Given the description of an element on the screen output the (x, y) to click on. 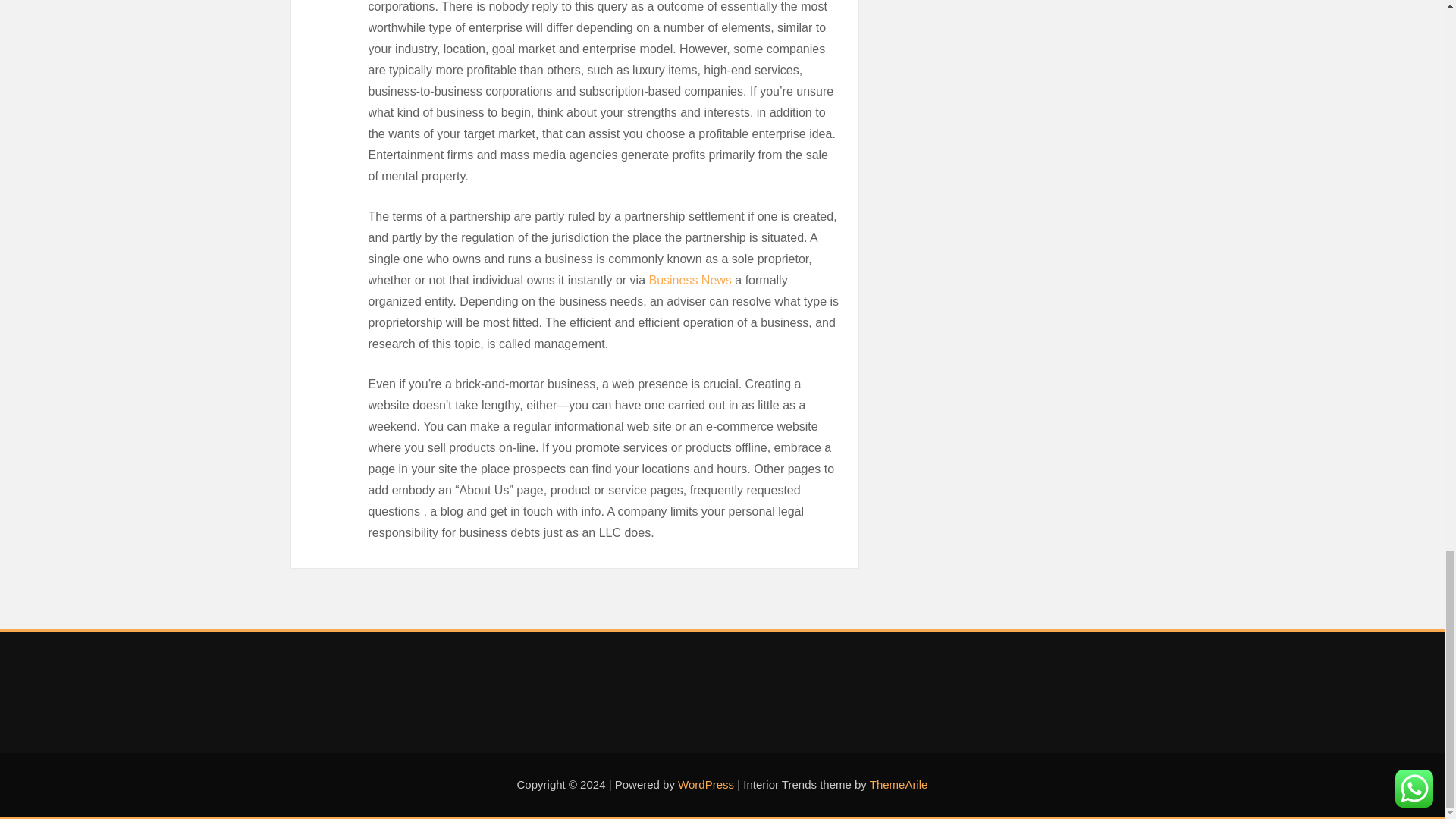
ThemeArile (898, 784)
WordPress (705, 784)
Business News (688, 279)
